Given the description of an element on the screen output the (x, y) to click on. 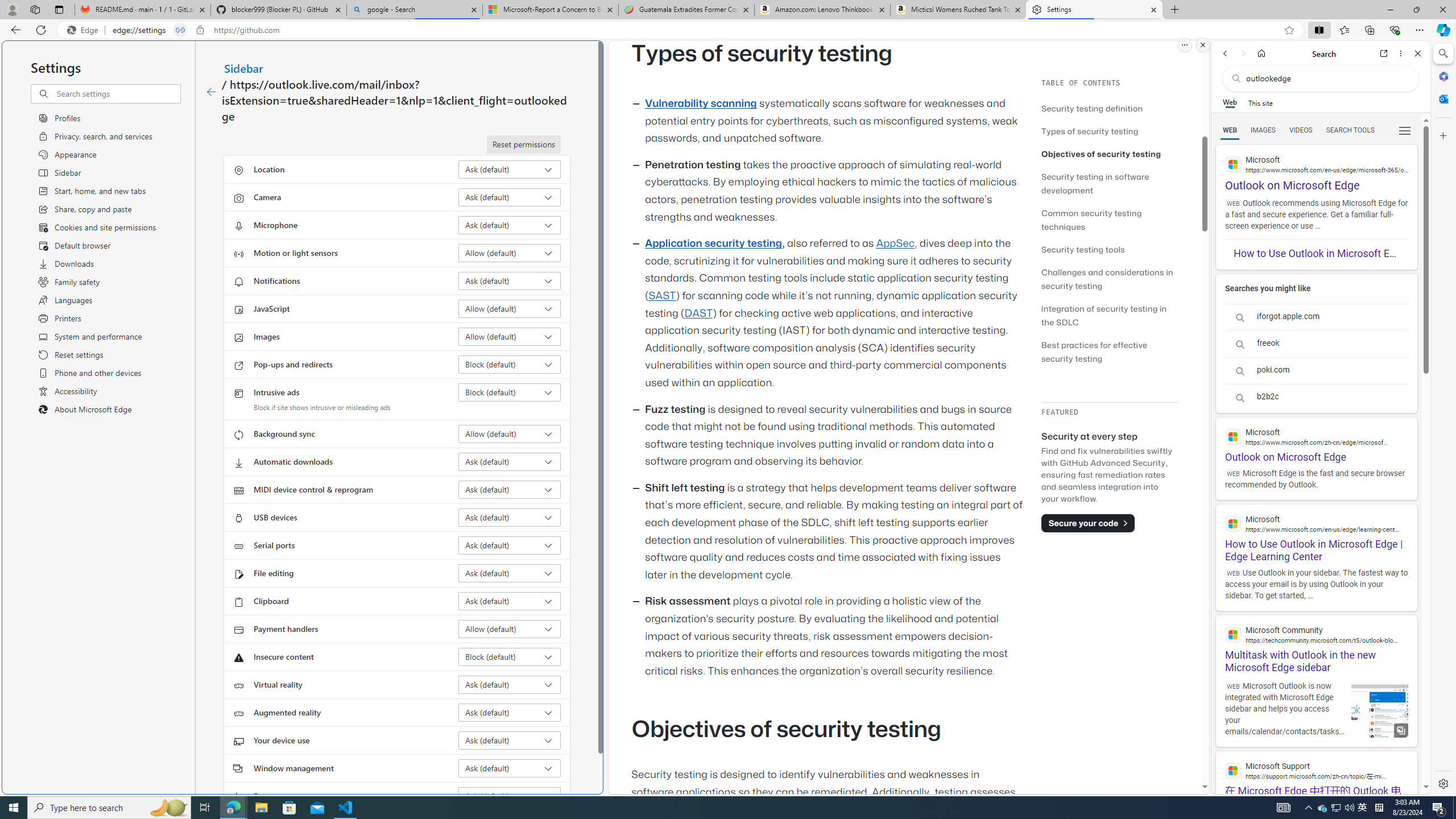
Reset permissions (523, 144)
File editing Ask (default) (509, 573)
Search the web (1326, 78)
Class: c01182 (210, 91)
Types of security testing (1109, 130)
VIDEOS (1300, 130)
Objectives of security testing (1101, 153)
Search settings (117, 93)
SAST (661, 295)
Application security testing (713, 243)
